Given the description of an element on the screen output the (x, y) to click on. 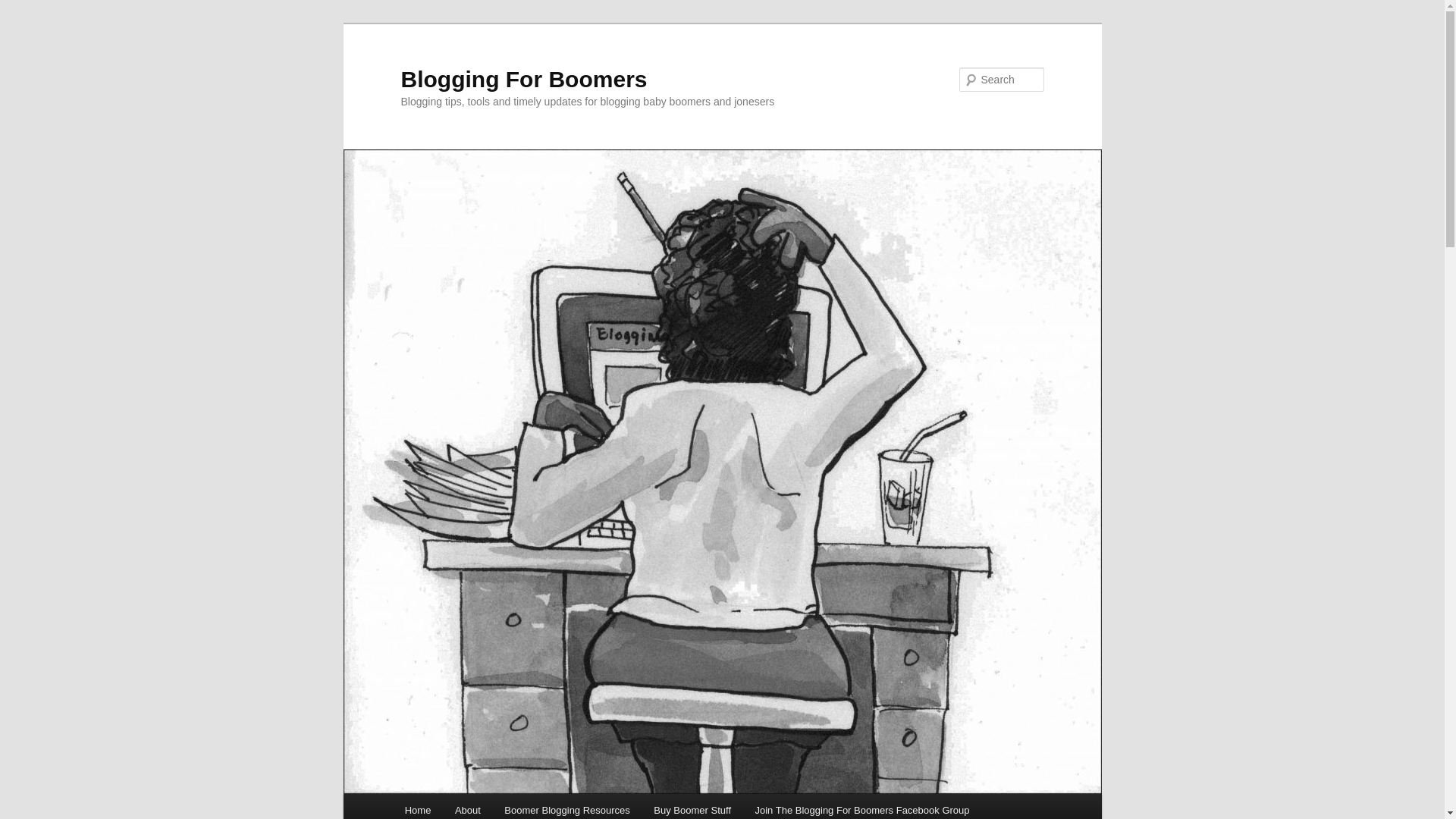
Search (24, 8)
Boomer Blogging Resources (567, 806)
Join The Blogging For Boomers Facebook Group (861, 806)
Home (417, 806)
Buy Boomer Stuff (692, 806)
Blogging For Boomers (523, 78)
About (467, 806)
